Given the description of an element on the screen output the (x, y) to click on. 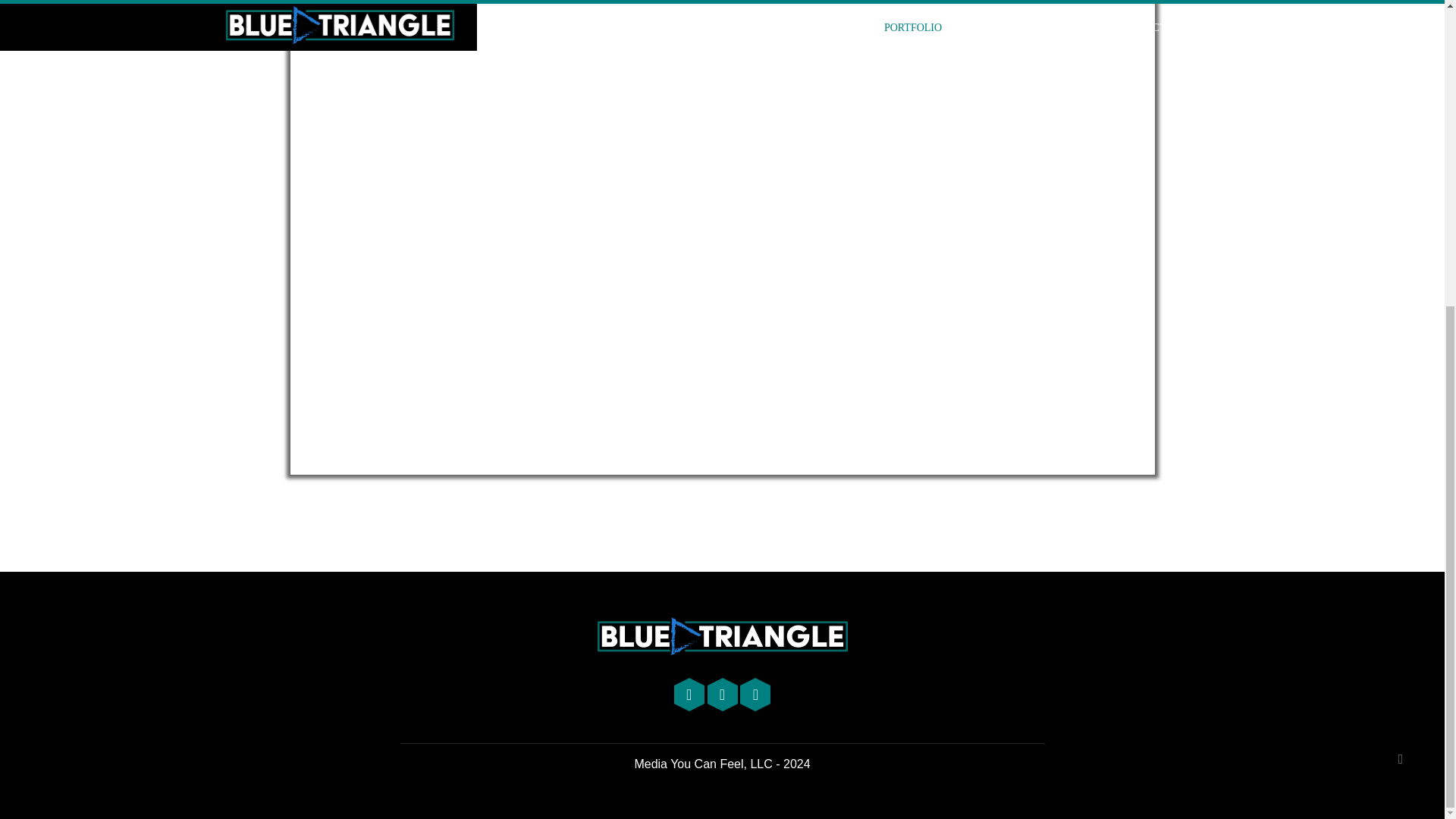
Twitter (722, 695)
Facebook (754, 695)
Back to Top (1400, 277)
YouTube (690, 695)
